Given the description of an element on the screen output the (x, y) to click on. 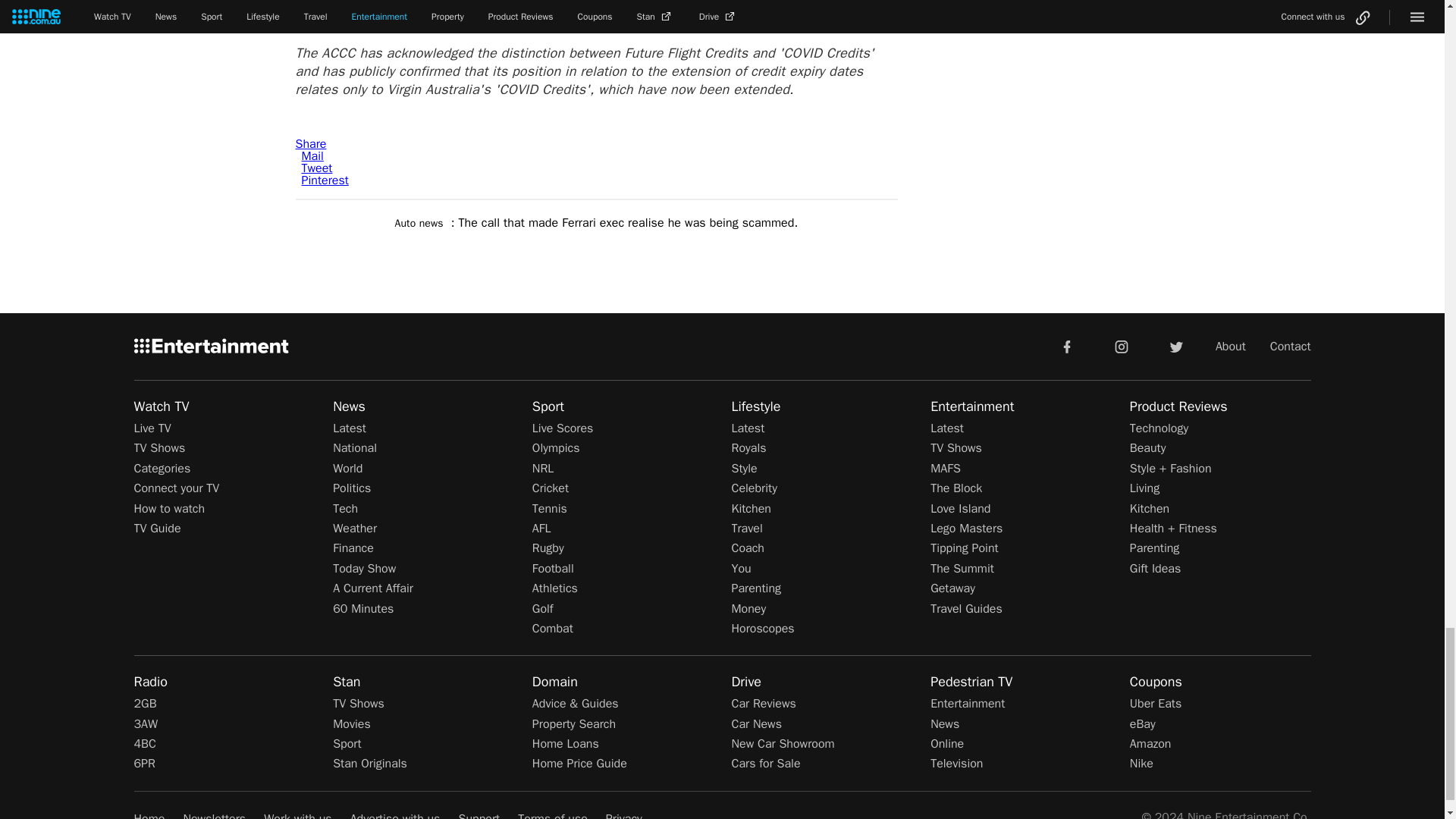
twitter (1175, 345)
Tweet (317, 168)
Mail (312, 155)
Categories (161, 468)
About (1230, 346)
Watch TV (161, 406)
instagram (1121, 345)
TV Guide (156, 528)
National (355, 447)
Live TV (151, 427)
News (349, 406)
Share (310, 143)
facebook (1066, 345)
TV Shows (158, 447)
